Given the description of an element on the screen output the (x, y) to click on. 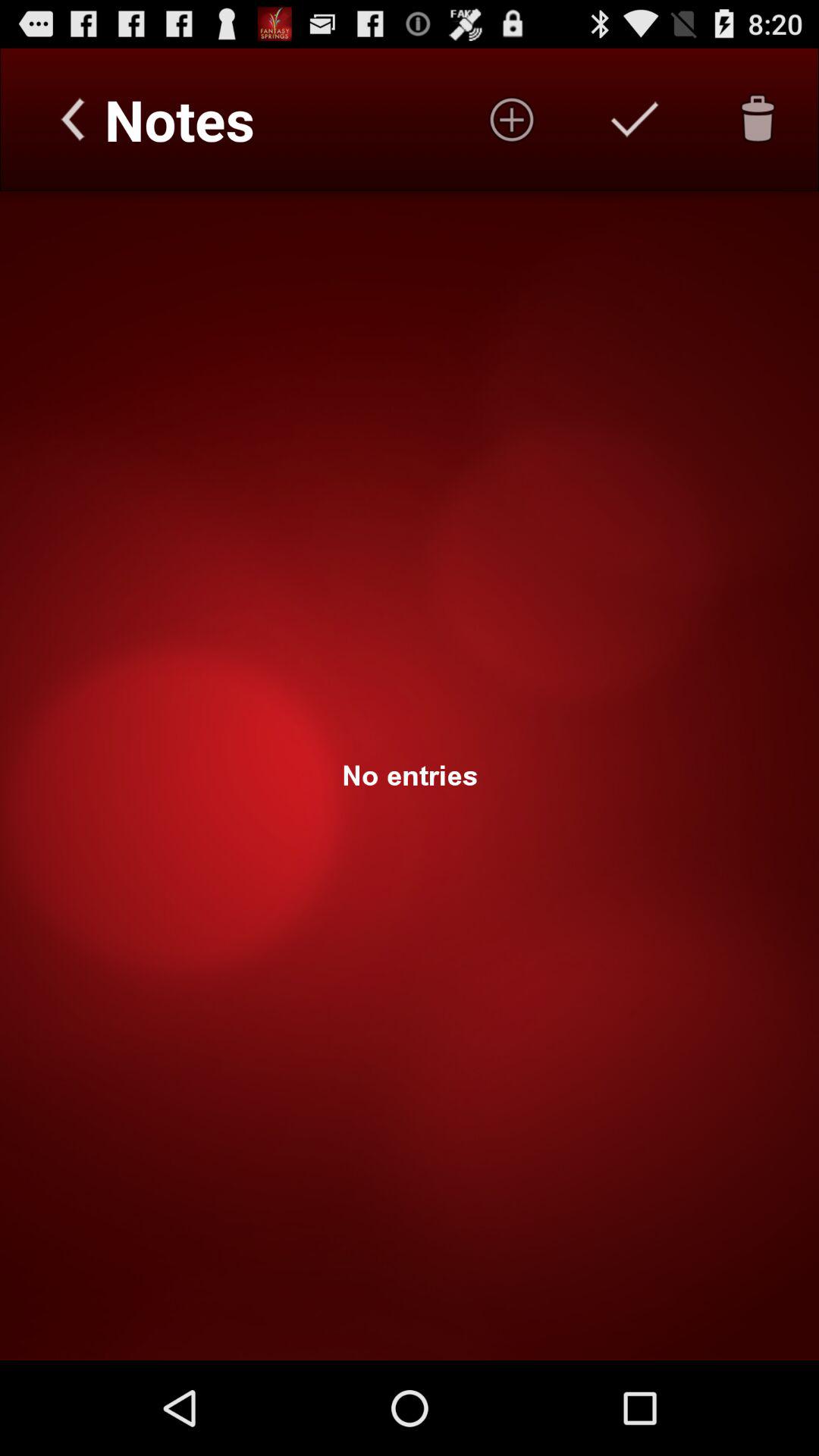
start a new entry (511, 119)
